Given the description of an element on the screen output the (x, y) to click on. 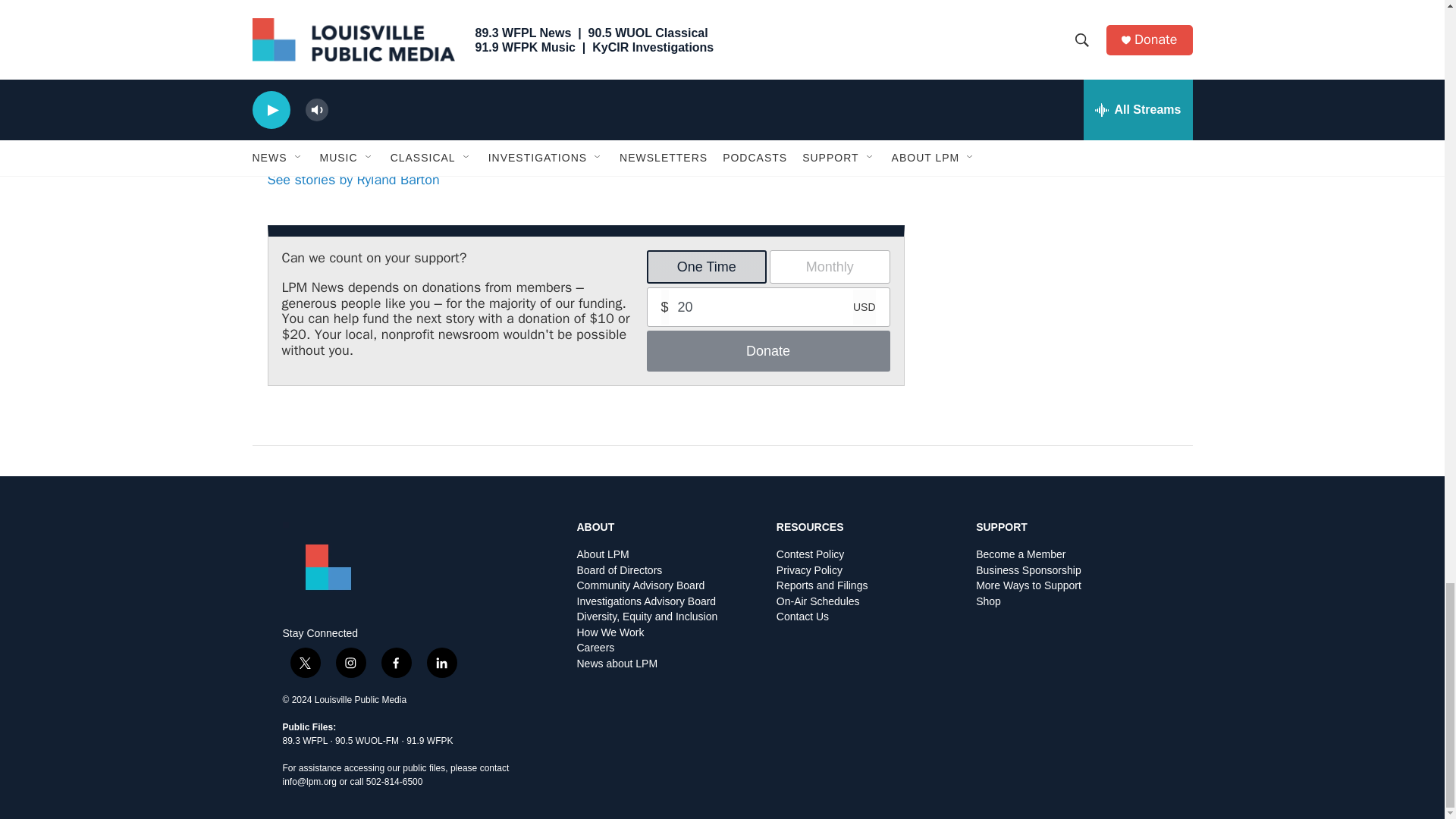
20 (768, 306)
